Given the description of an element on the screen output the (x, y) to click on. 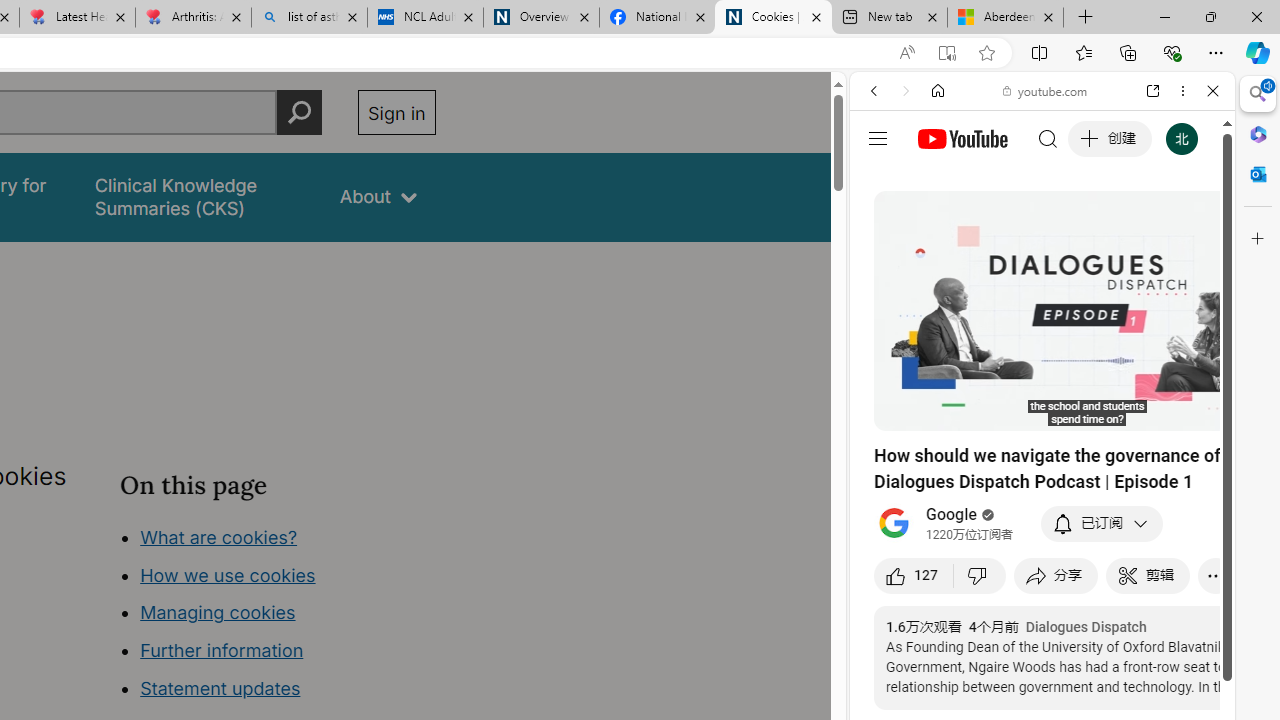
What are cookies? (218, 536)
Managing cookies (217, 612)
NCL Adult Asthma Inhaler Choice Guideline (424, 17)
Trailer #2 [HD] (1042, 594)
Class: b_serphb (1190, 229)
Aberdeen, Hong Kong SAR hourly forecast | Microsoft Weather (1005, 17)
Music (1042, 543)
Show More Music (1164, 546)
